Given the description of an element on the screen output the (x, y) to click on. 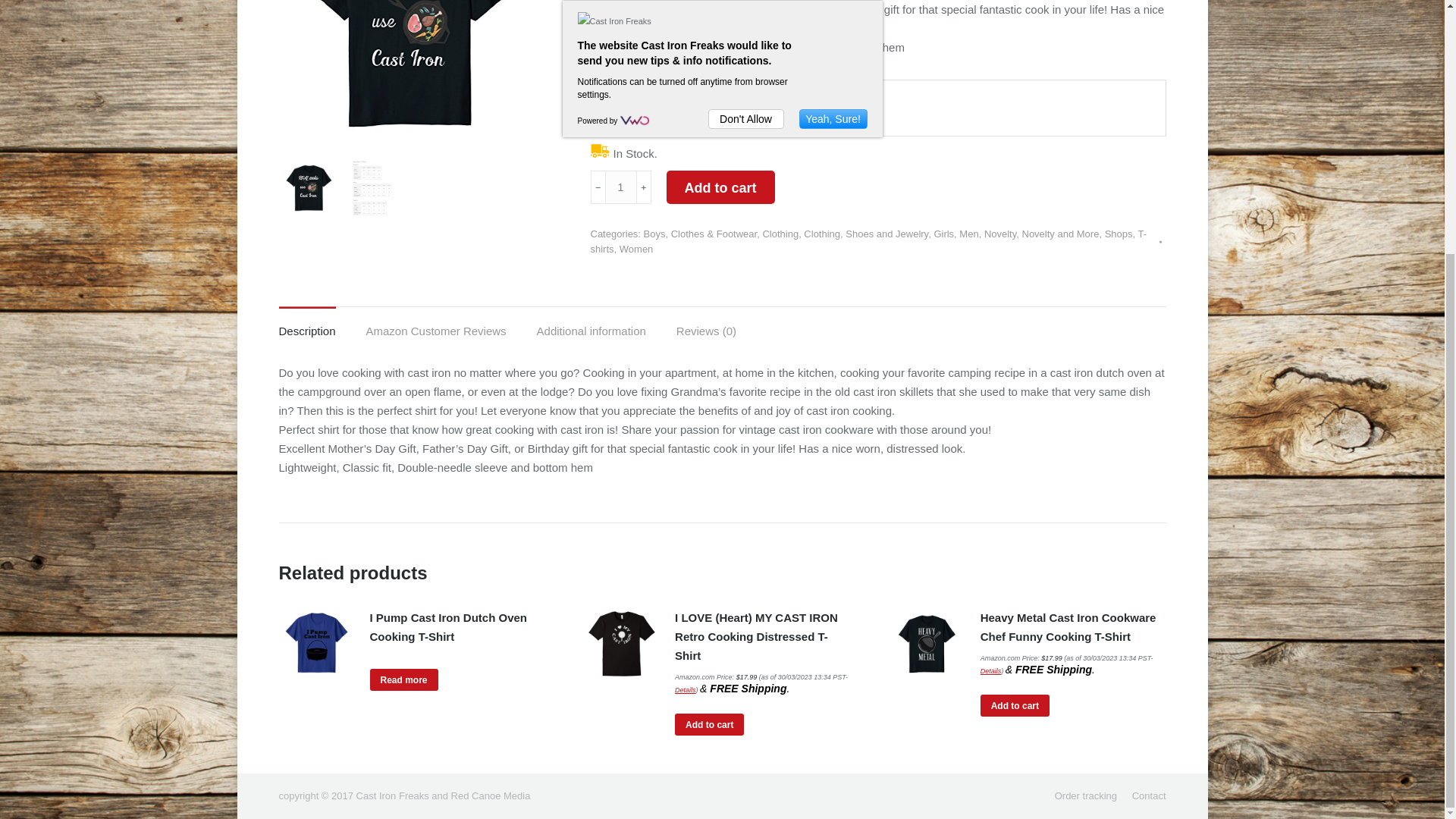
Real-Cooks-Use-Cast-Iron-Distressed-Cooking-T-Shirt (411, 74)
1 (619, 186)
on (632, 107)
